Given the description of an element on the screen output the (x, y) to click on. 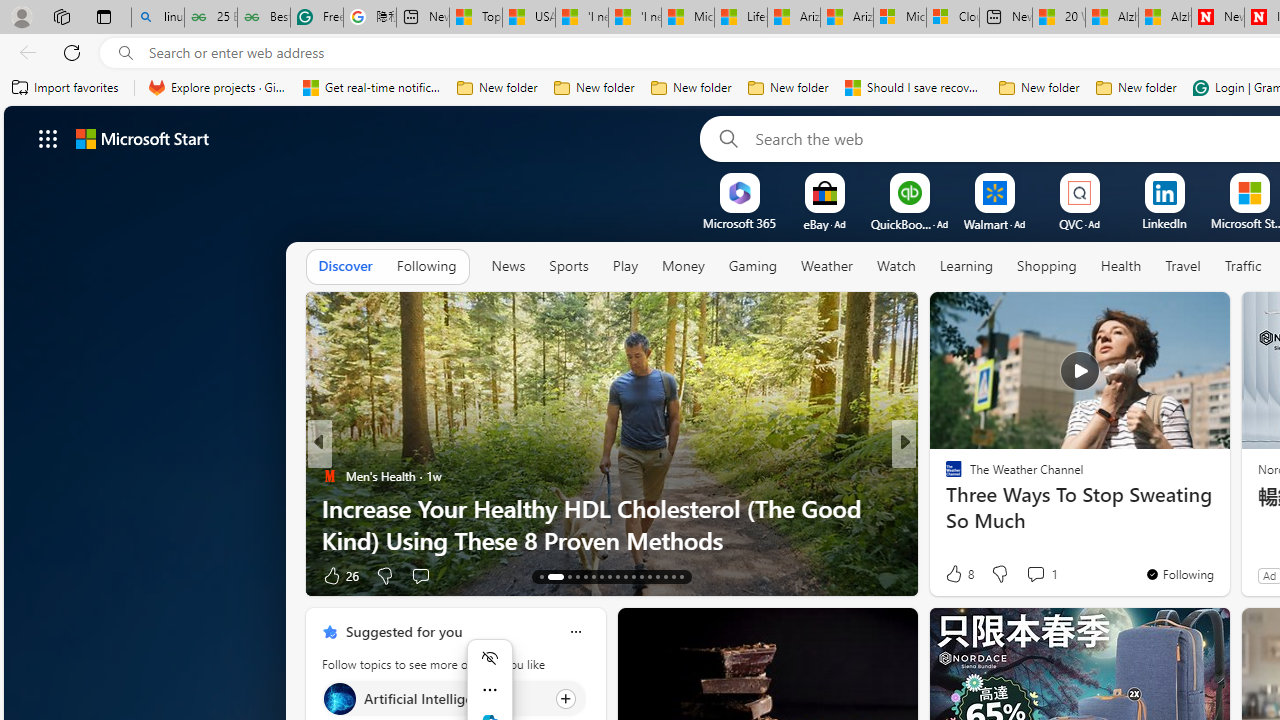
244 Like (959, 574)
View comments 7 Comment (1041, 574)
CNET (944, 507)
Artificial Intelligence (338, 697)
Wealth of Geeks (944, 475)
View comments 10 Comment (1051, 574)
AutomationID: tab-17 (585, 576)
Play (625, 265)
2k Like (955, 574)
Shopping (1047, 265)
